Given the description of an element on the screen output the (x, y) to click on. 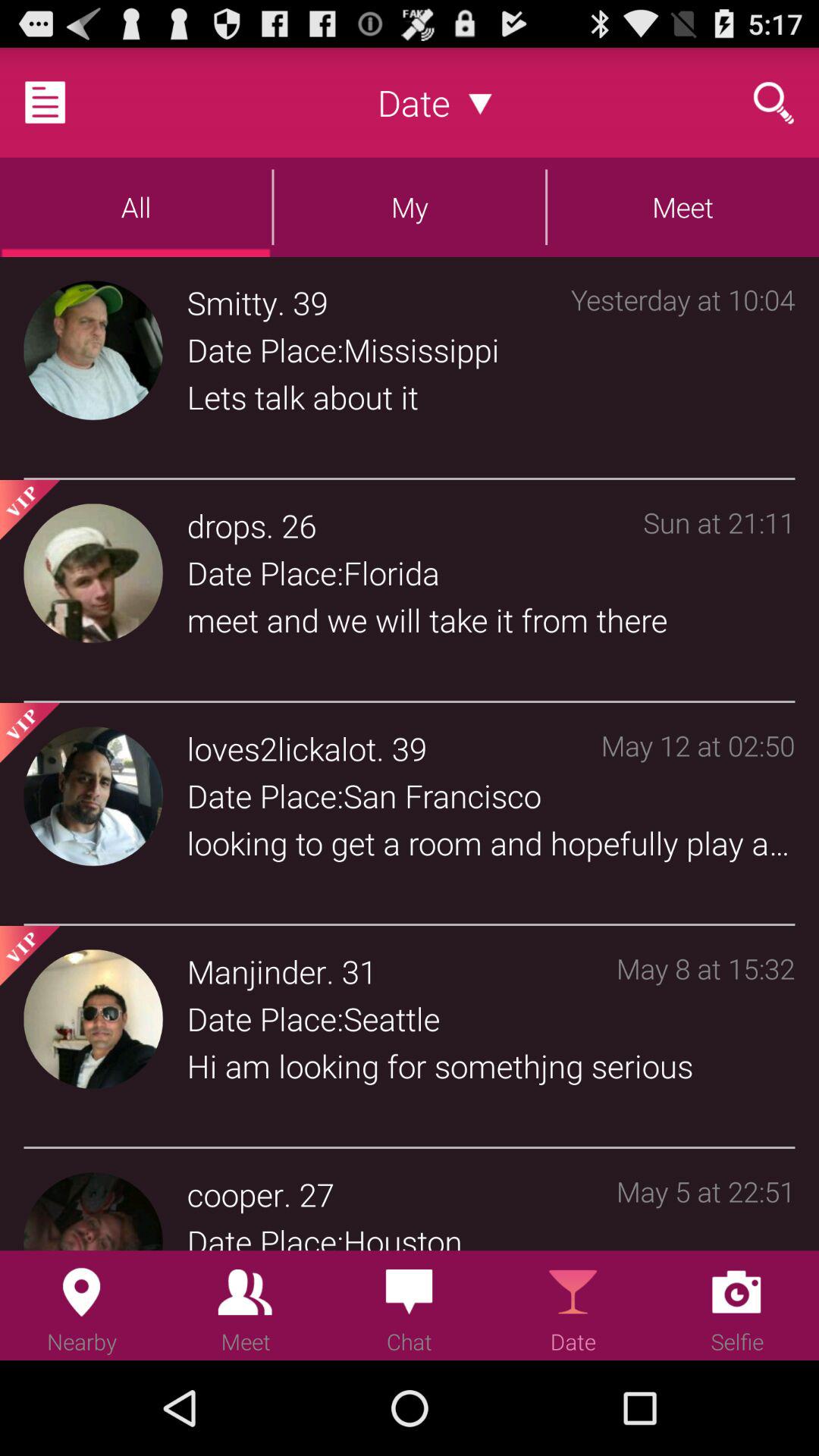
toggle copy feature (63, 102)
